Given the description of an element on the screen output the (x, y) to click on. 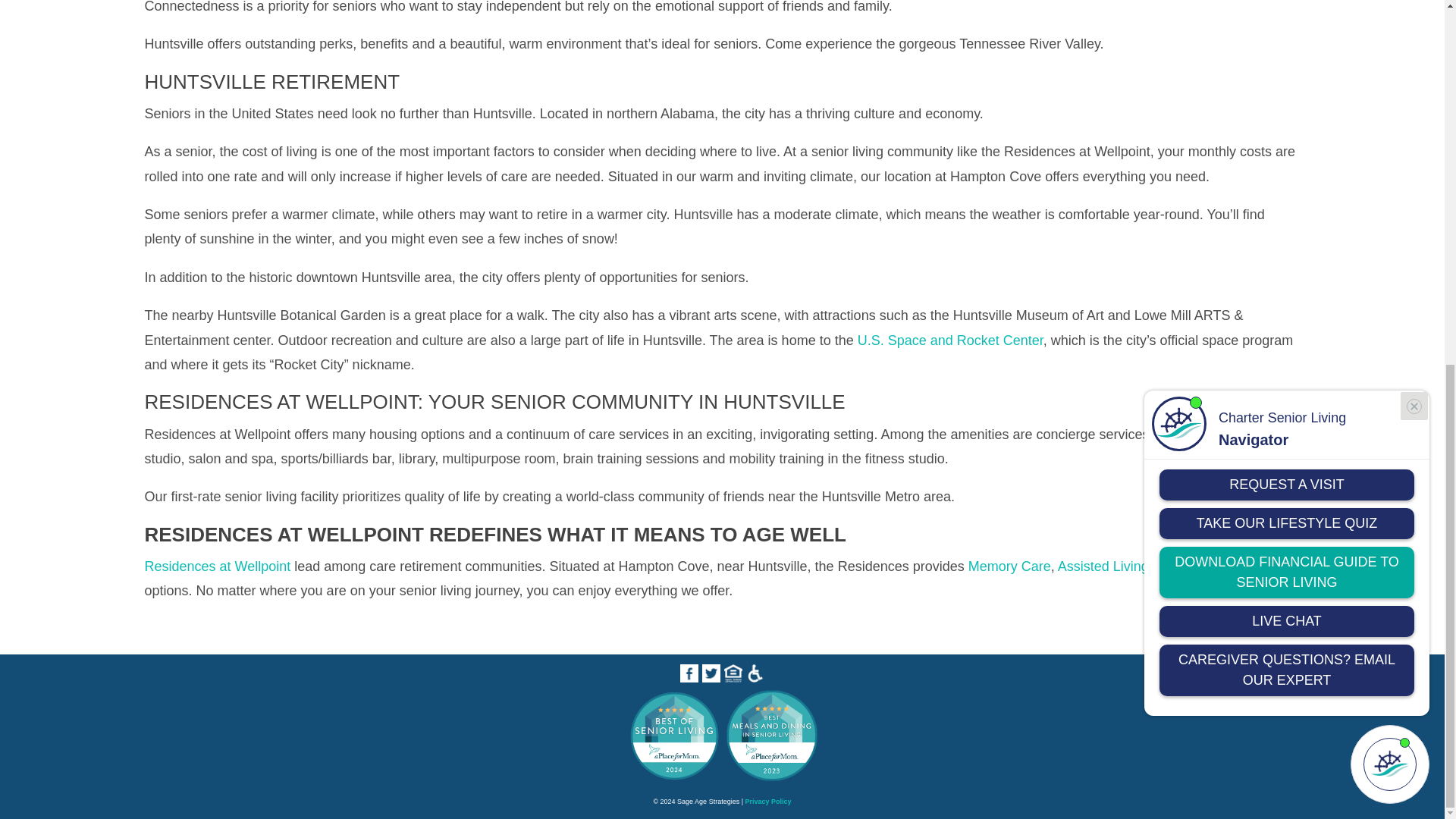
iframe (1286, 31)
Privacy Policy (767, 801)
